Given the description of an element on the screen output the (x, y) to click on. 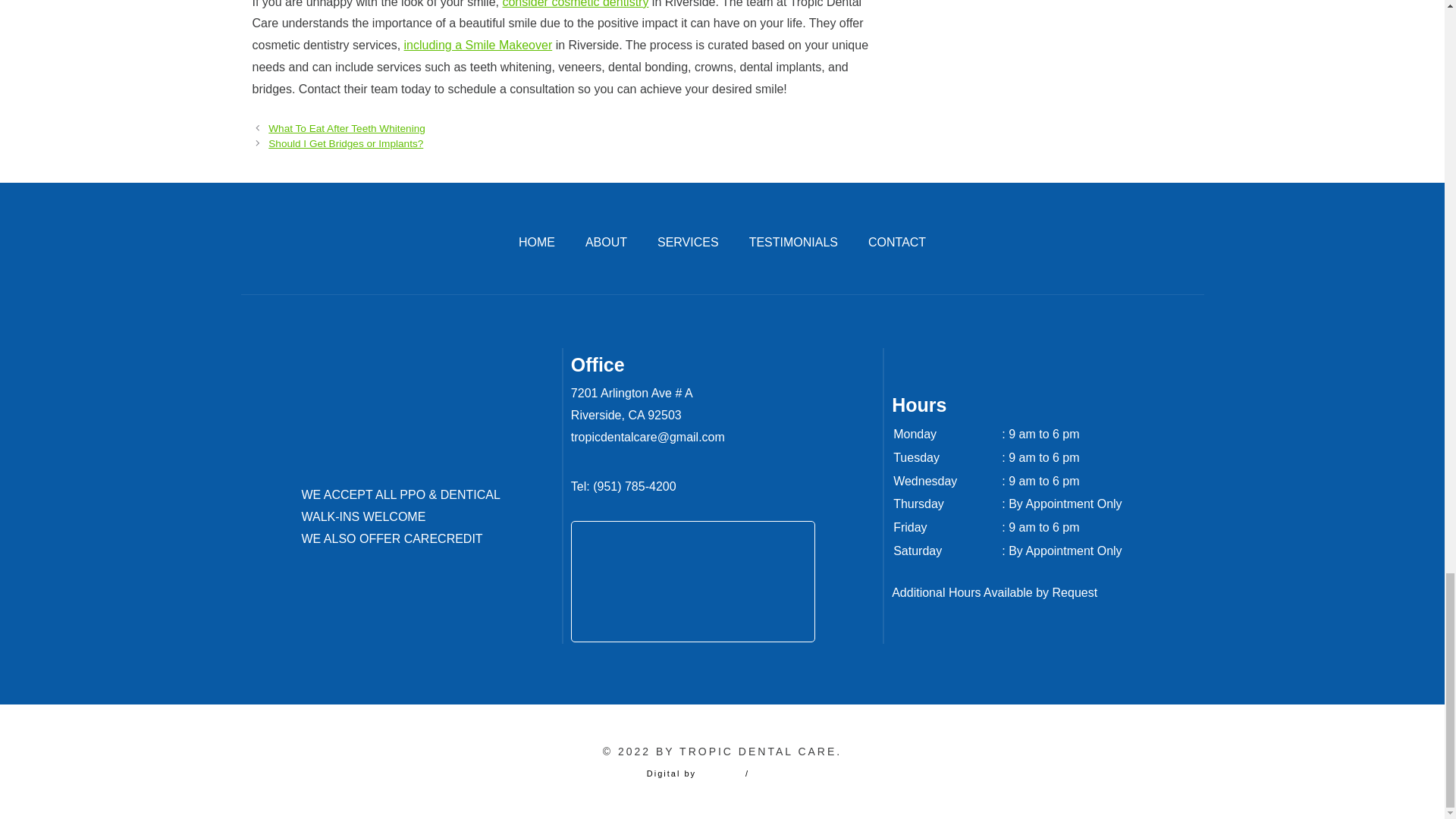
What To Eat After Teeth Whitening (346, 128)
Next (345, 143)
HOME (536, 241)
ABOUT (606, 241)
Should I Get Bridges or Implants? (345, 143)
Previous (346, 128)
SERVICES (688, 241)
including a Smile Makeover (478, 44)
consider cosmetic dentistry (574, 4)
